Given the description of an element on the screen output the (x, y) to click on. 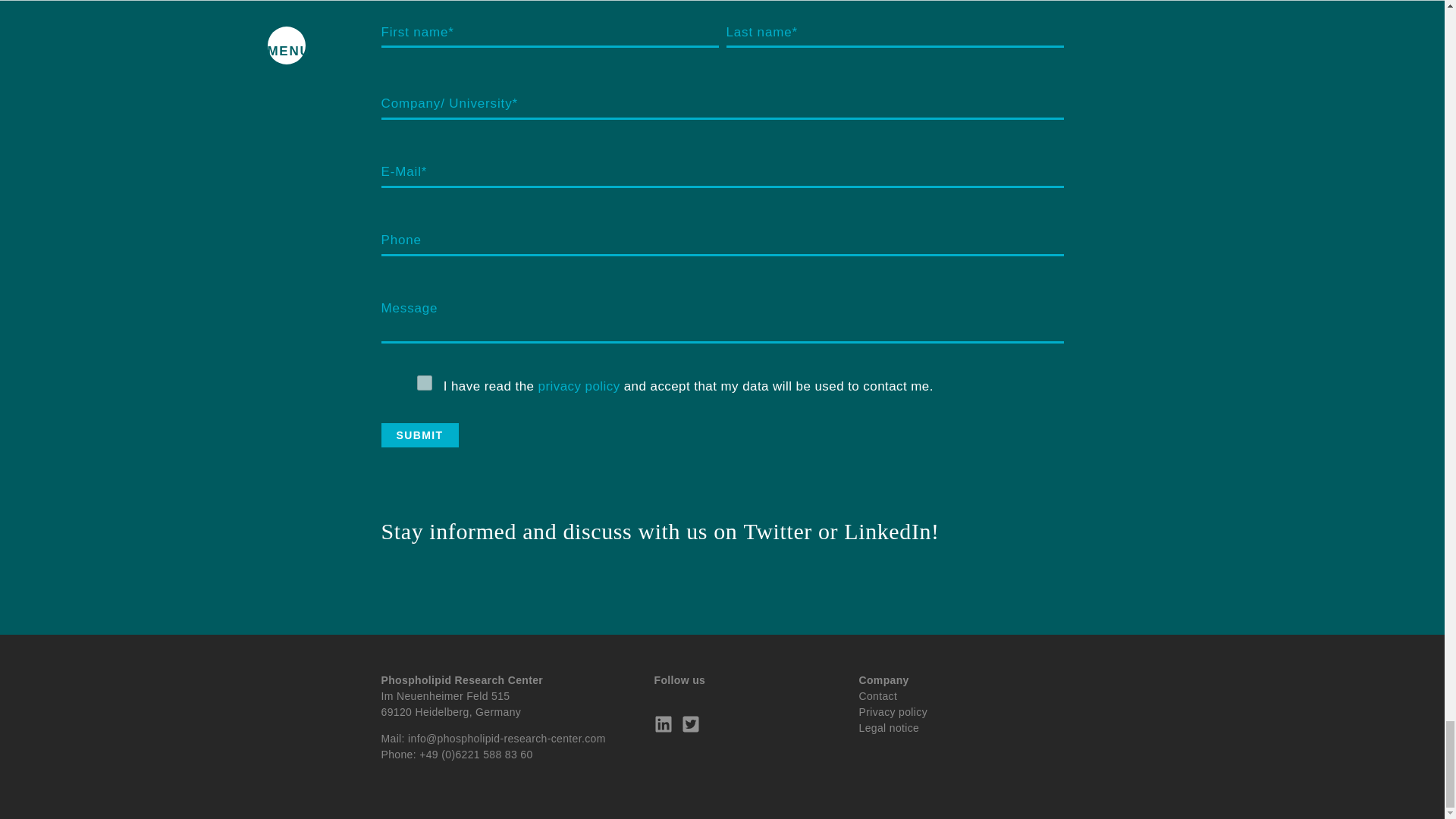
Submit (419, 435)
ja (424, 382)
